Given the description of an element on the screen output the (x, y) to click on. 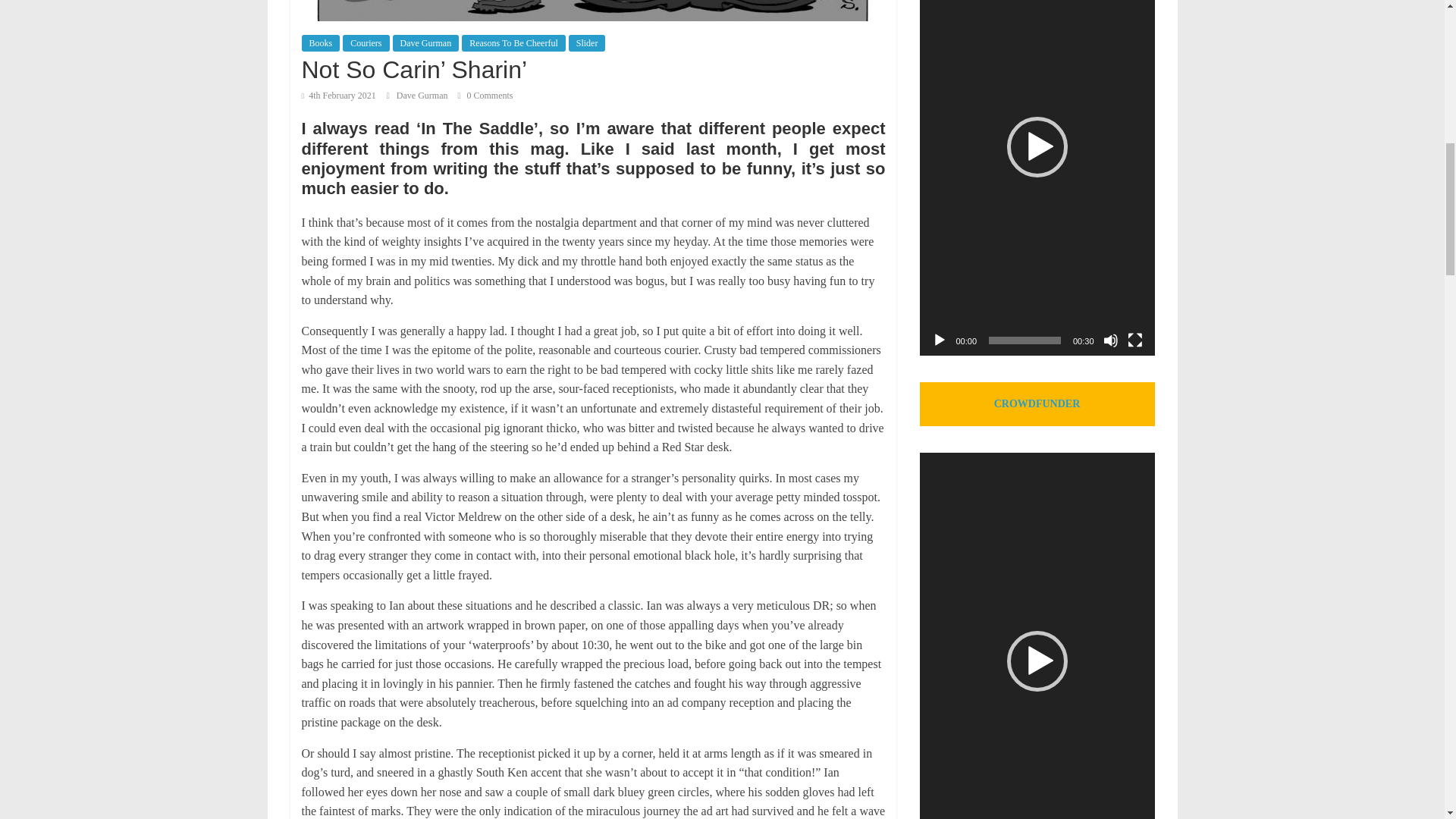
Dave Gurman (422, 95)
4:09 pm (338, 95)
